Given the description of an element on the screen output the (x, y) to click on. 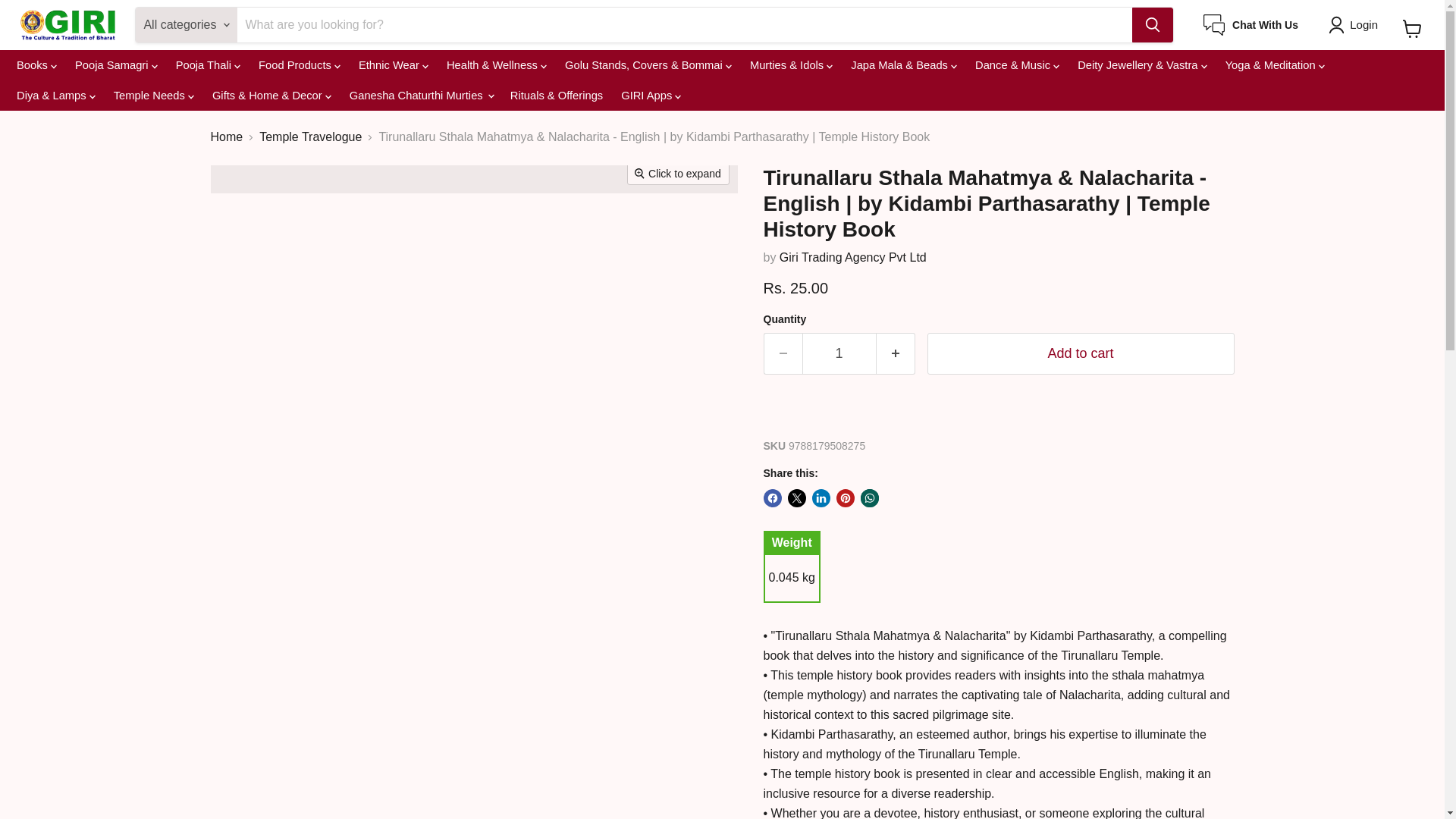
View cart (1411, 28)
Chat With Us (1251, 25)
Login (1355, 24)
1 (839, 353)
Giri Trading Agency Pvt Ltd (852, 256)
